Given the description of an element on the screen output the (x, y) to click on. 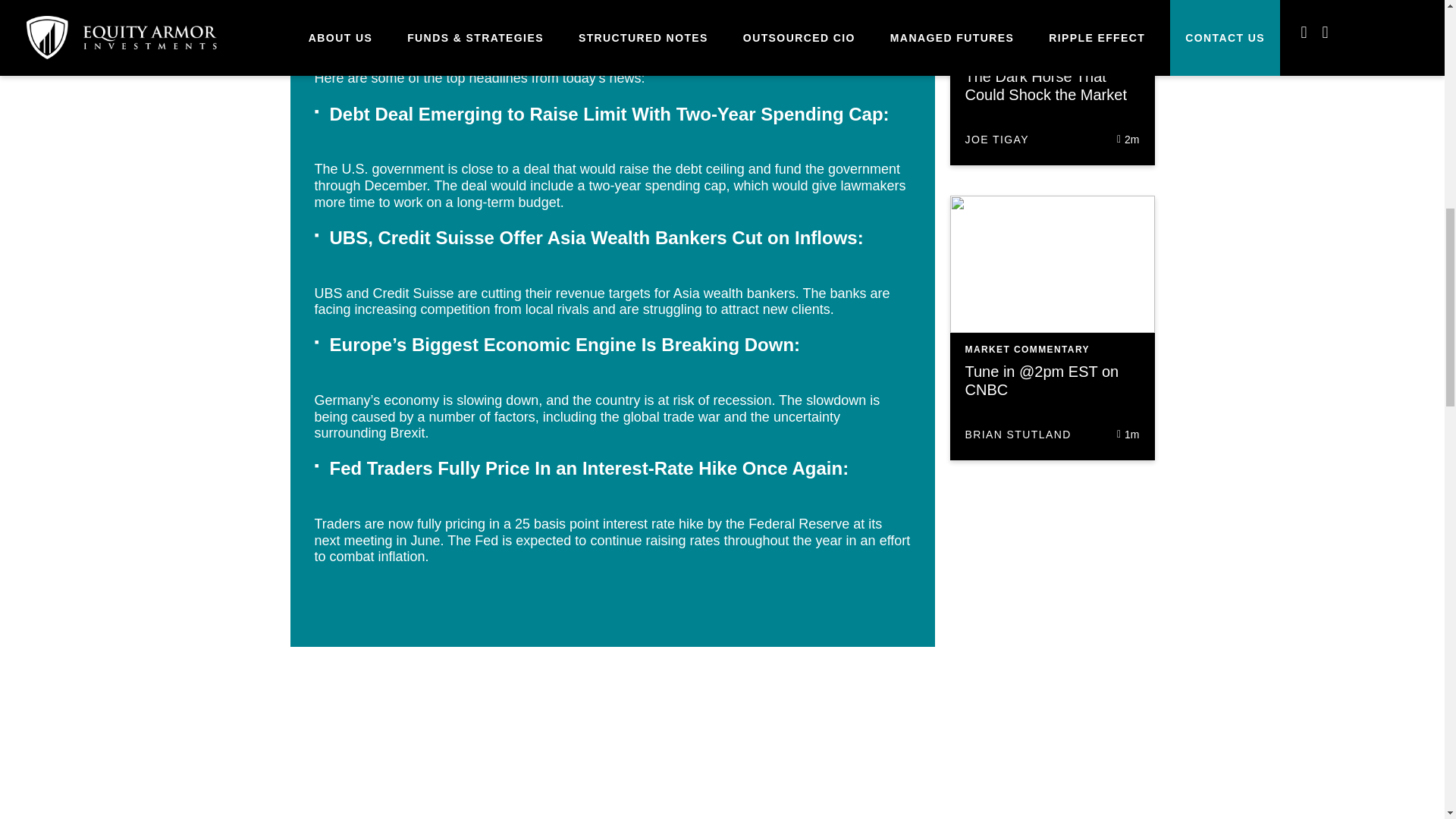
MARKET COMMENTARY (1026, 348)
The Dark Horse That Could Shock the Market (1044, 85)
MARKET COMMENTARY (1026, 53)
